Given the description of an element on the screen output the (x, y) to click on. 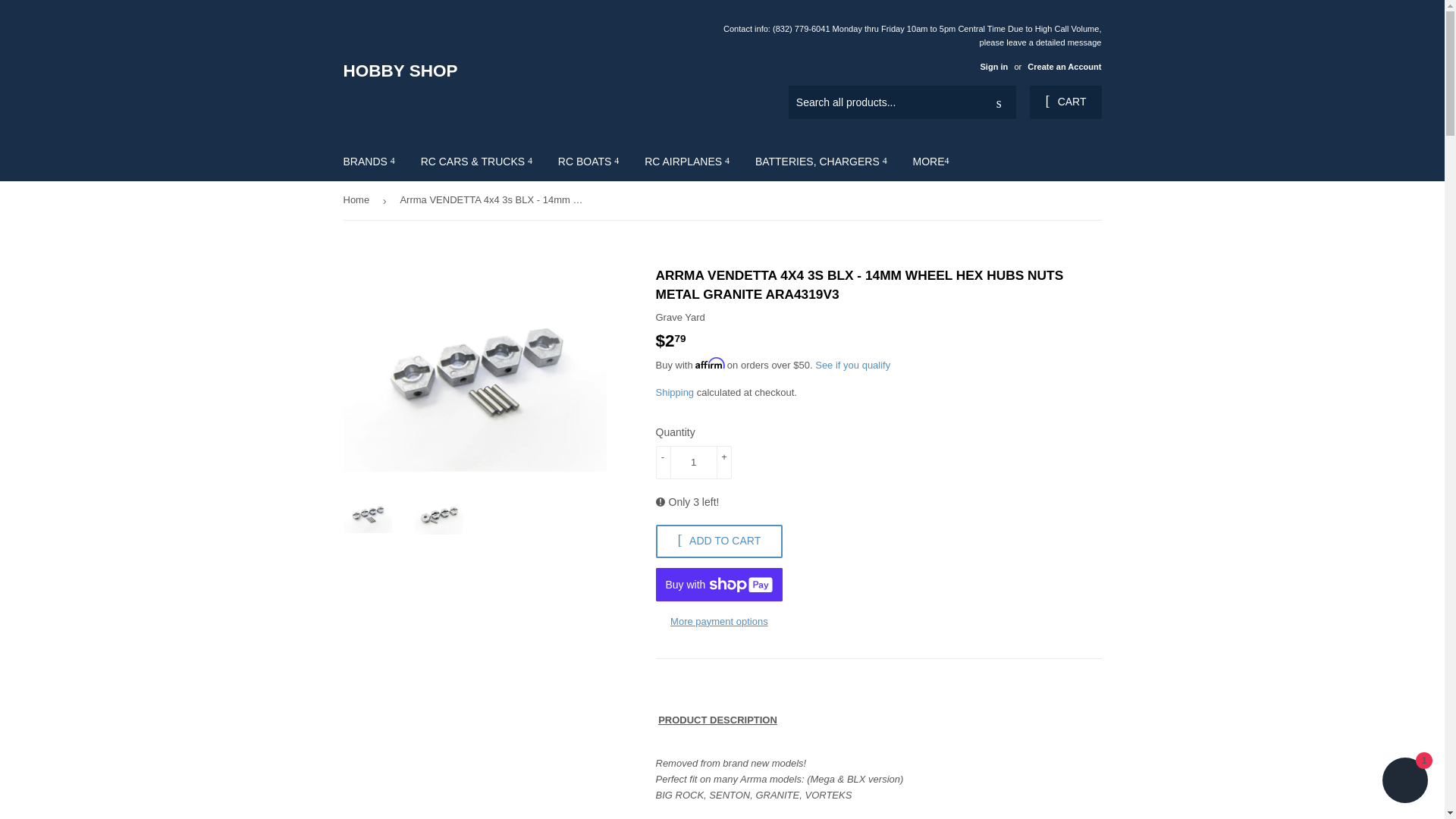
Create an Account (1063, 66)
Sign in (993, 66)
Search (998, 102)
1 (692, 462)
Shopify online store chat (1404, 781)
HOBBY SHOP (532, 70)
CART (1064, 101)
